Given the description of an element on the screen output the (x, y) to click on. 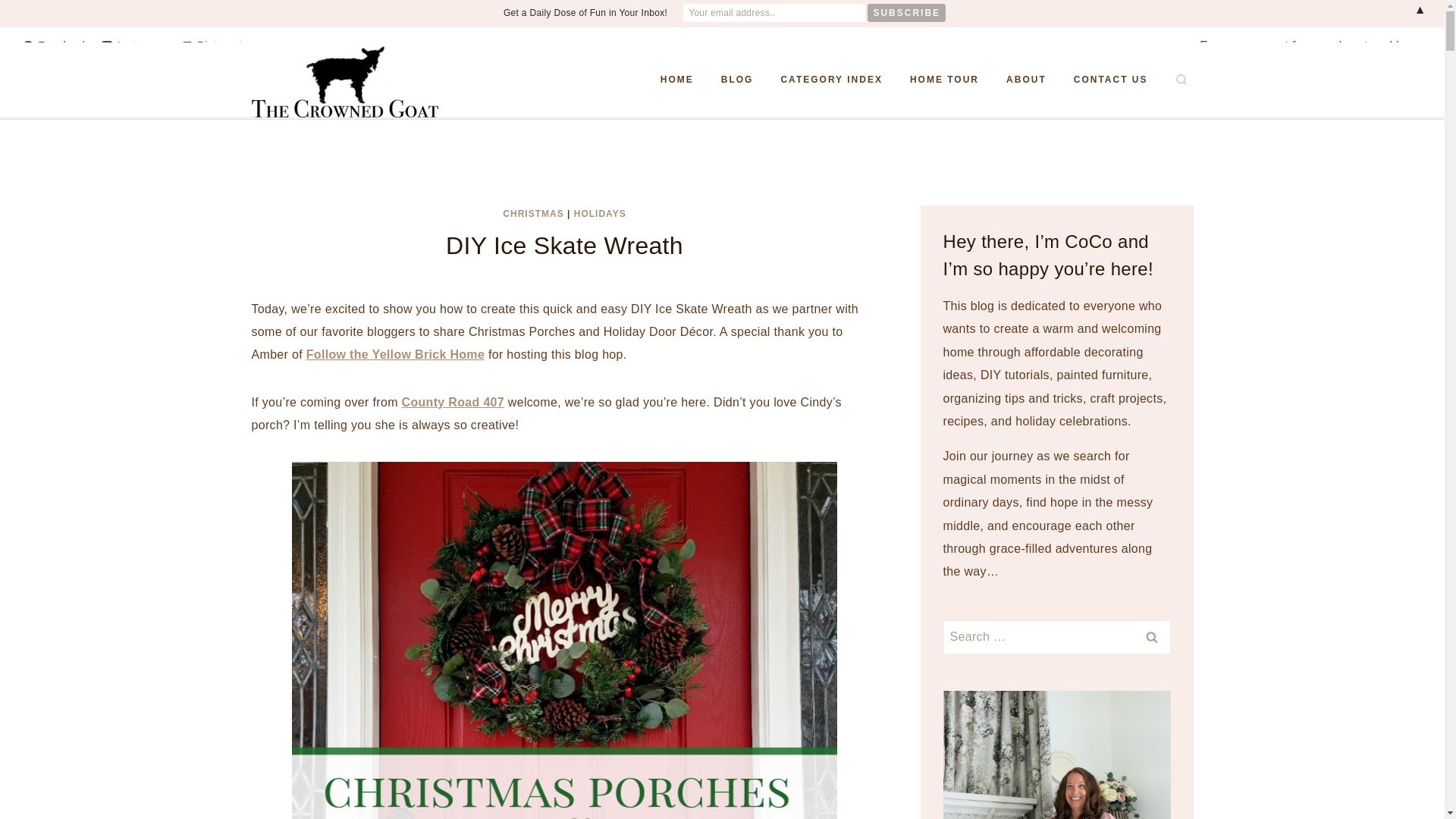
Subscribe (905, 13)
CHRISTMAS (532, 213)
CATEGORY INDEX (831, 79)
HOLIDAYS (599, 213)
County Road 407 (453, 401)
Instagram (134, 46)
HOME (676, 79)
BLOG (737, 79)
Pinterest (212, 46)
Search (1151, 636)
Follow the Yellow Brick Home (394, 354)
Search (1151, 636)
Facebook (55, 46)
HOME TOUR (944, 79)
ABOUT (1025, 79)
